Given the description of an element on the screen output the (x, y) to click on. 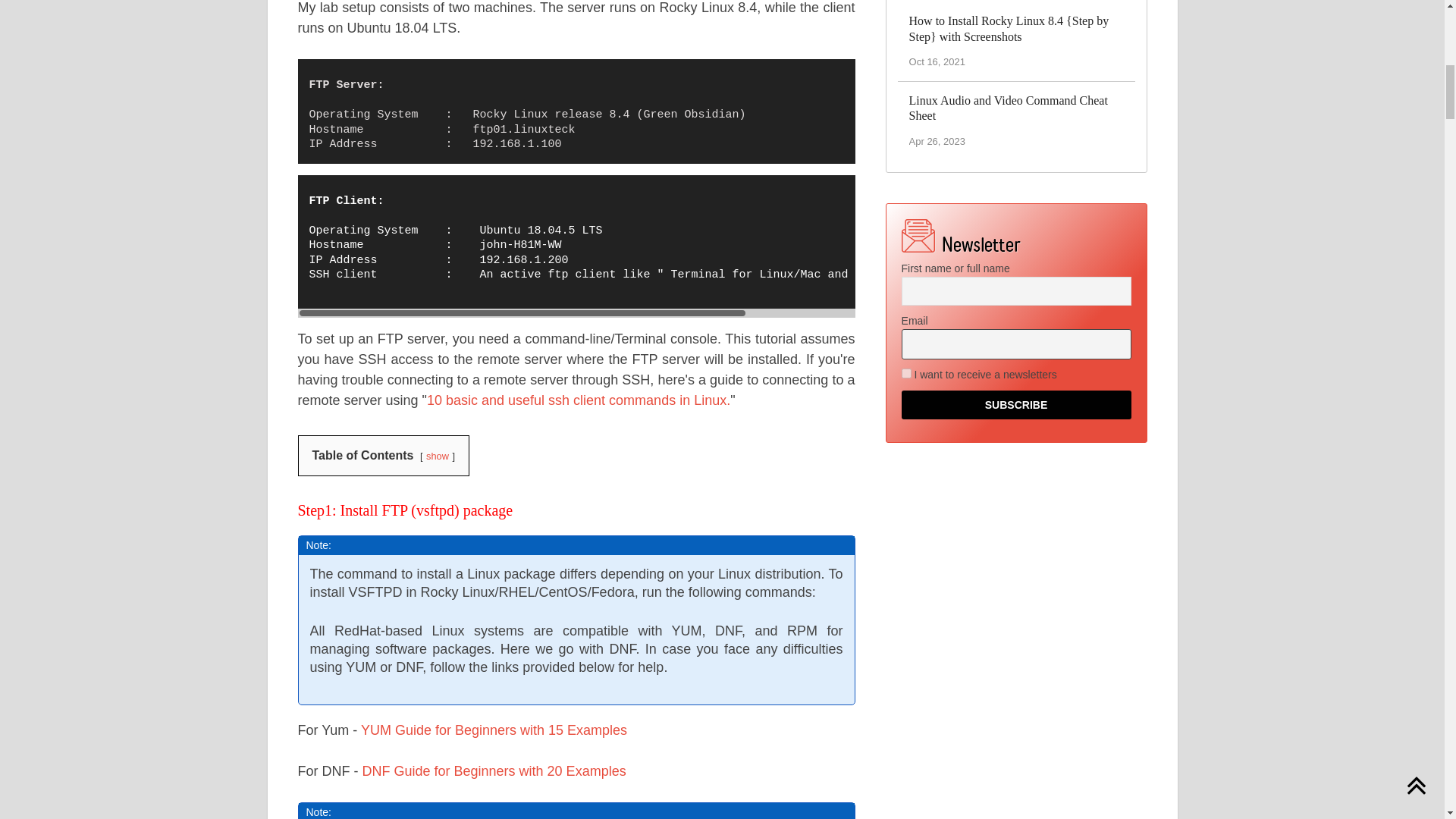
Subscribe (1016, 404)
show (437, 455)
10 basic and useful ssh client commands in Linux. (578, 400)
on (906, 373)
